Given the description of an element on the screen output the (x, y) to click on. 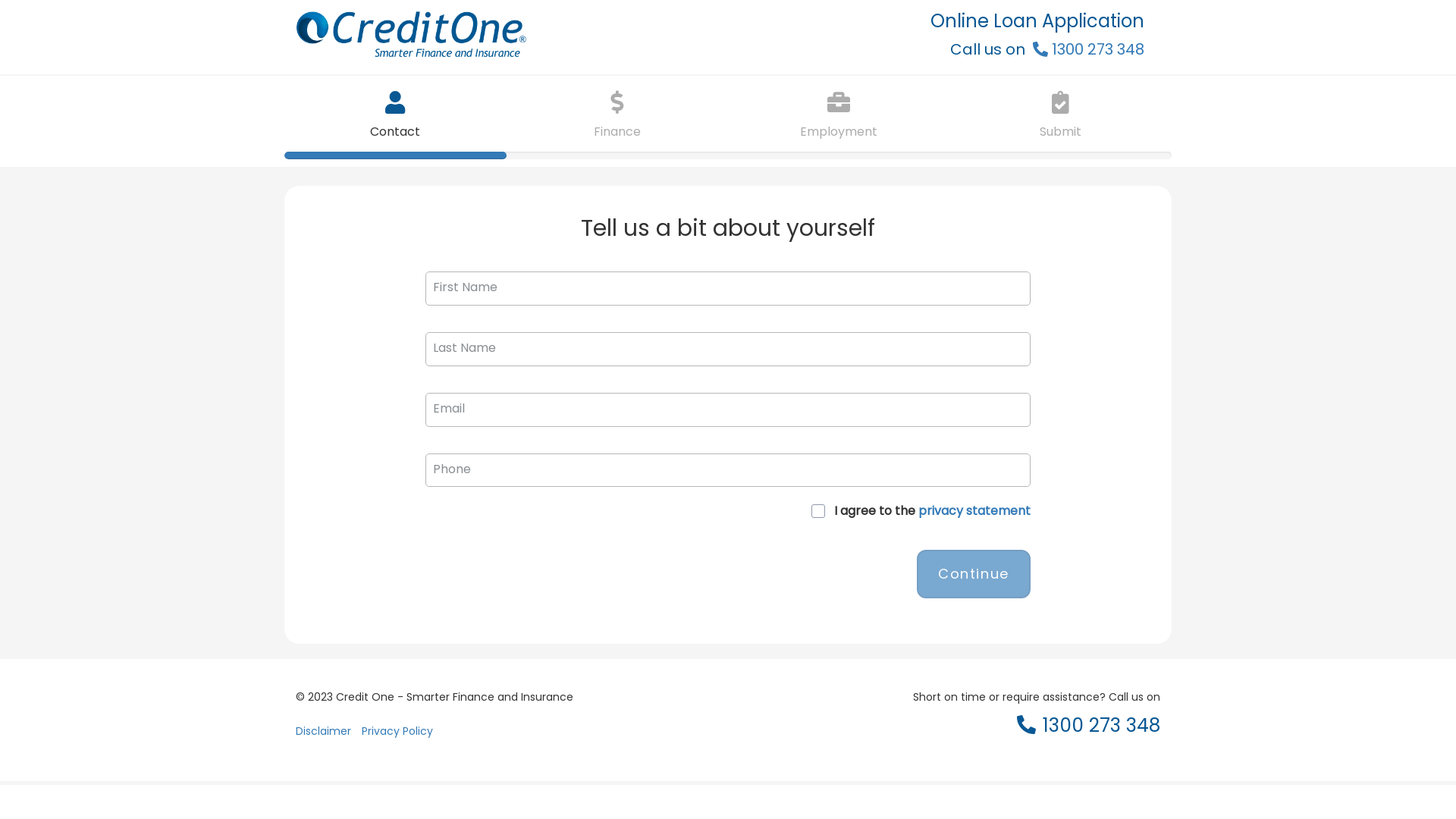
Employment Element type: text (839, 113)
Yes Element type: text (4, 4)
Finance Element type: text (617, 113)
Disclaimer Element type: text (323, 736)
1300 273 348 Element type: text (1088, 731)
Contact Element type: text (395, 113)
Privacy Policy Element type: text (397, 736)
Continue Element type: text (973, 573)
privacy statement Element type: text (974, 510)
Submit Element type: text (1060, 113)
1300 273 348 Element type: text (1088, 48)
